Given the description of an element on the screen output the (x, y) to click on. 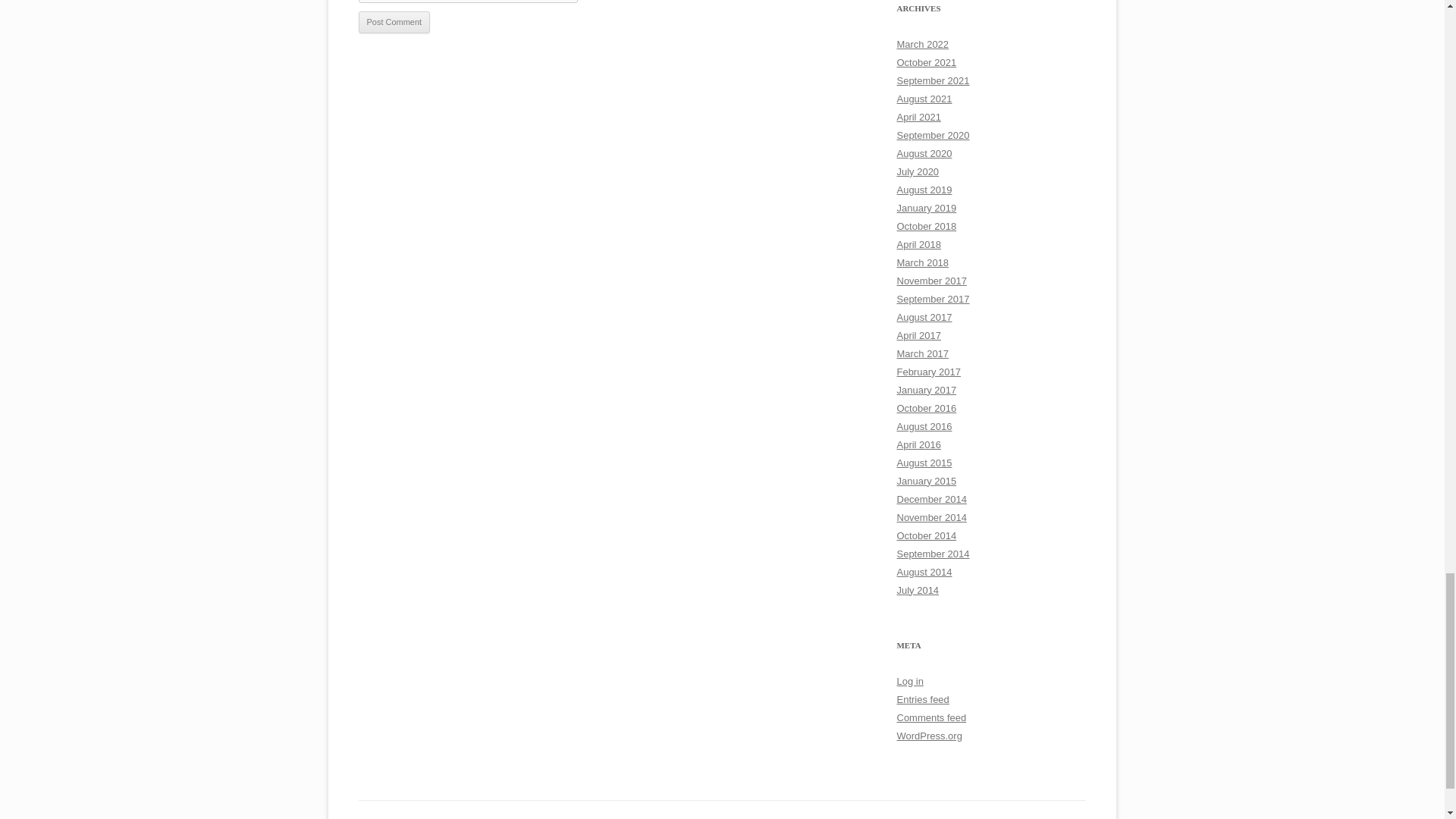
Post Comment (393, 22)
Post Comment (393, 22)
